Given the description of an element on the screen output the (x, y) to click on. 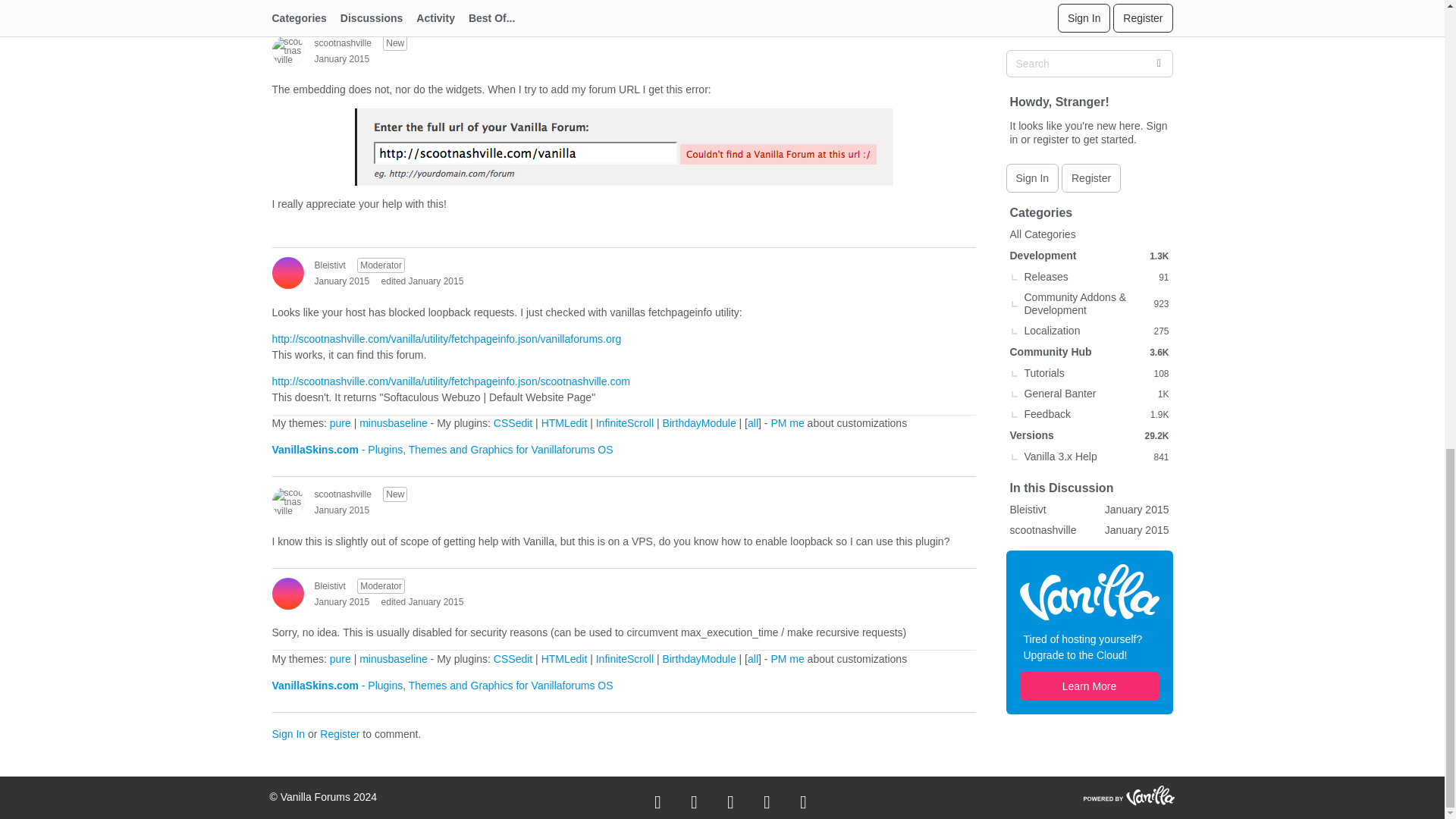
New (394, 43)
Powered By Vanilla (1128, 794)
scootnashville (286, 50)
